Given the description of an element on the screen output the (x, y) to click on. 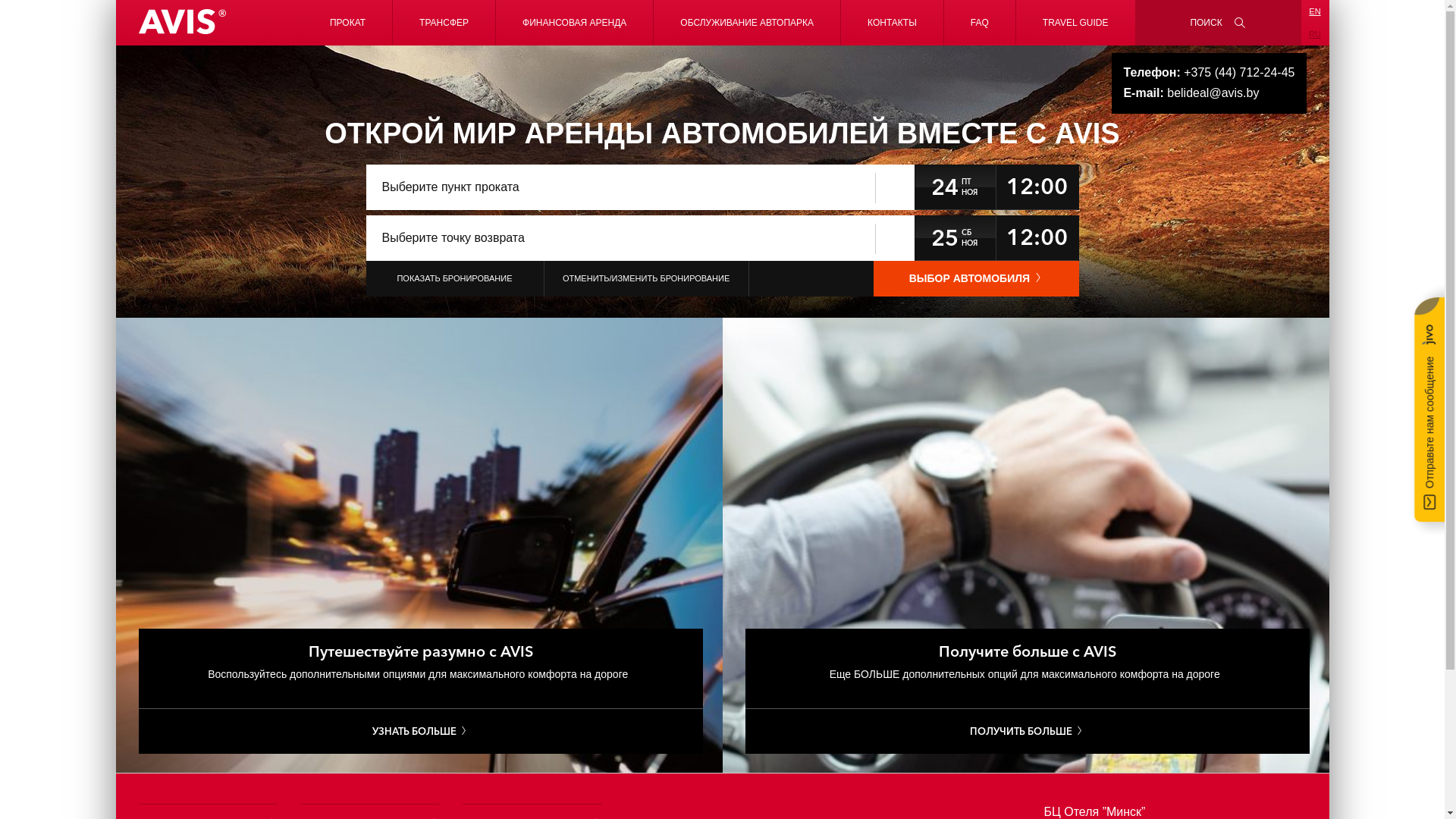
RU Element type: text (1314, 33)
EN Element type: text (1314, 10)
E-mail: belideal@avis.by Element type: text (1208, 92)
FAQ Element type: text (979, 22)
TRAVEL GUIDE Element type: text (1075, 22)
